Given the description of an element on the screen output the (x, y) to click on. 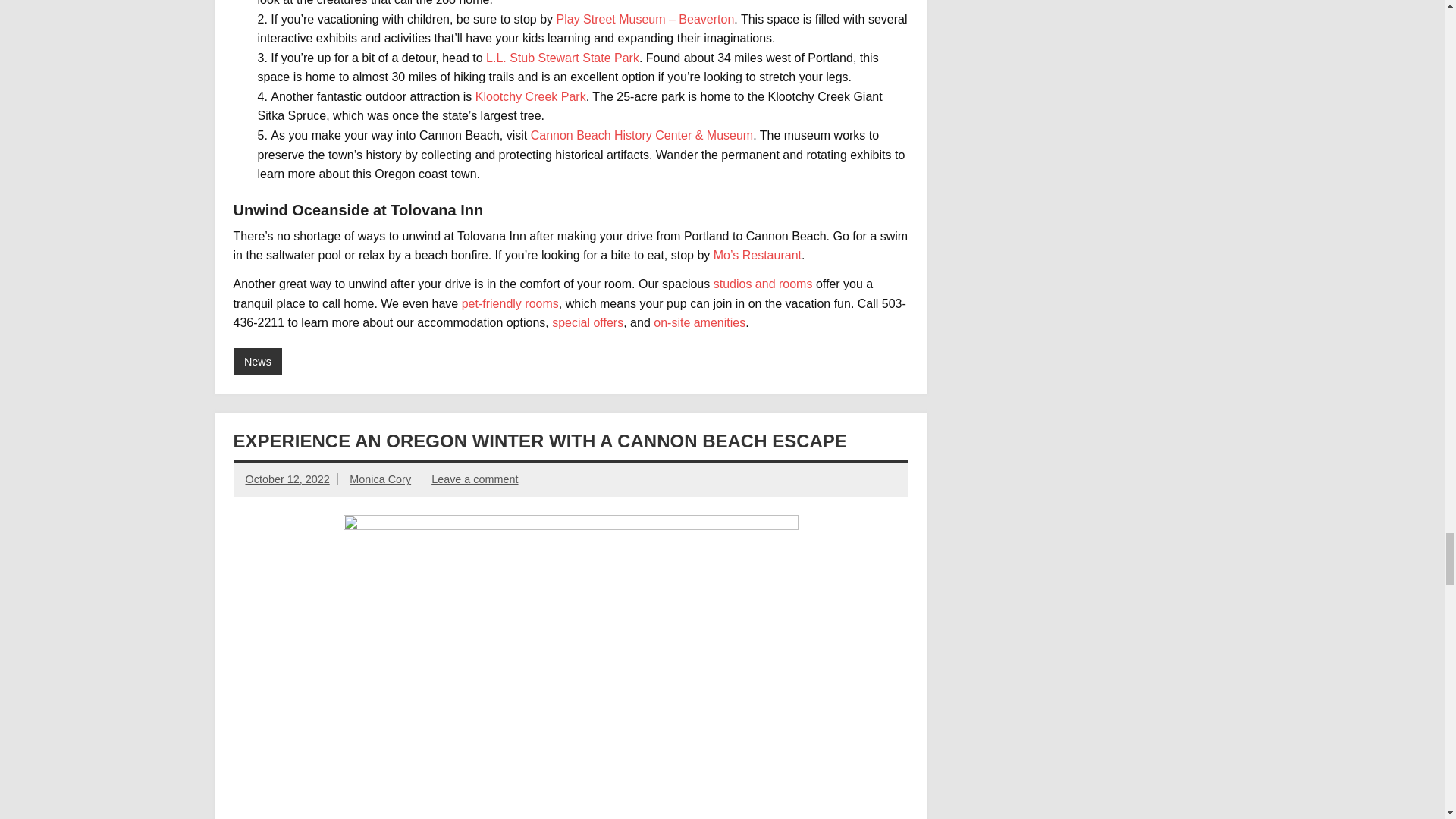
12:59 pm (288, 479)
